Given the description of an element on the screen output the (x, y) to click on. 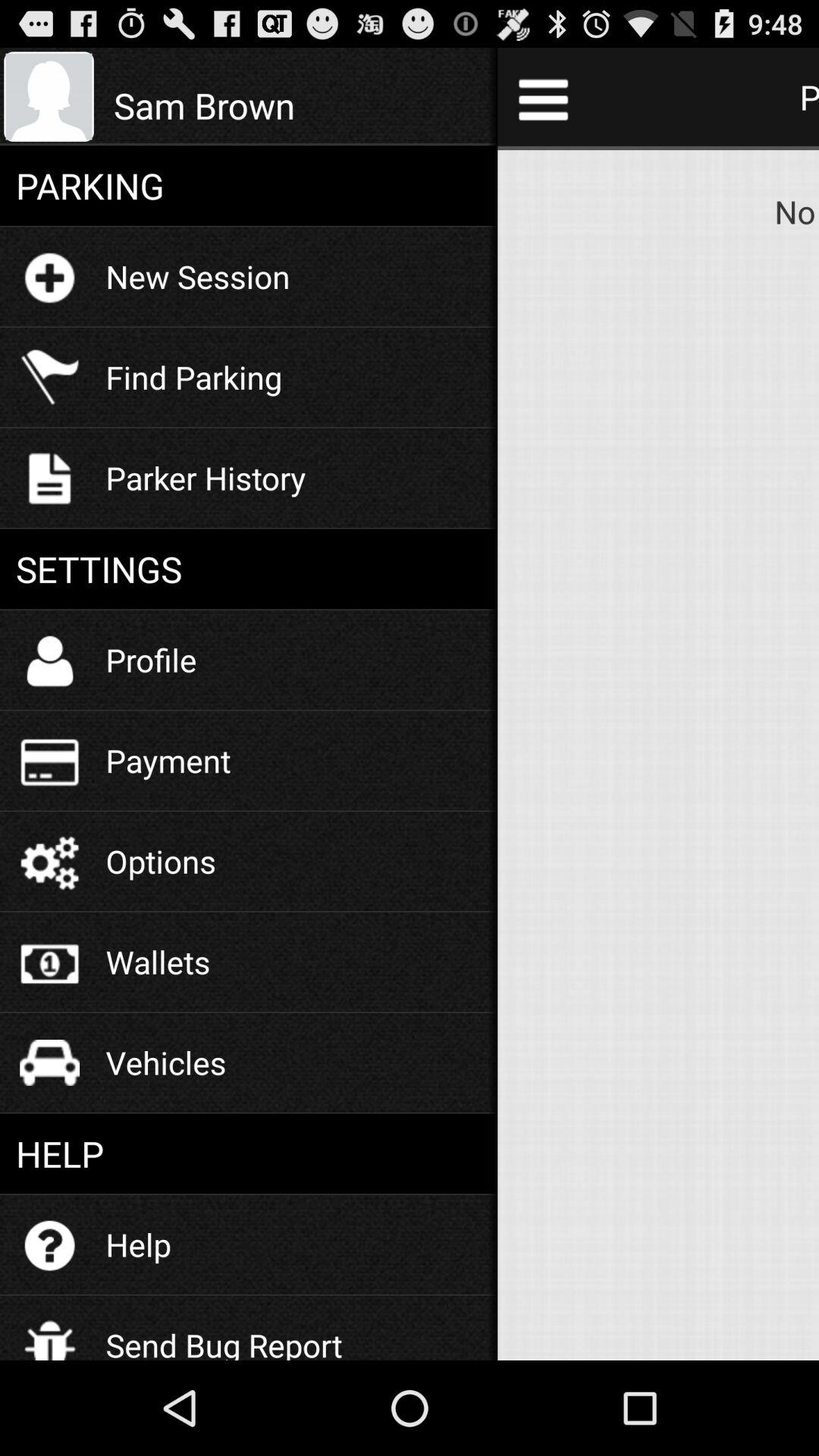
select the options (160, 860)
